Given the description of an element on the screen output the (x, y) to click on. 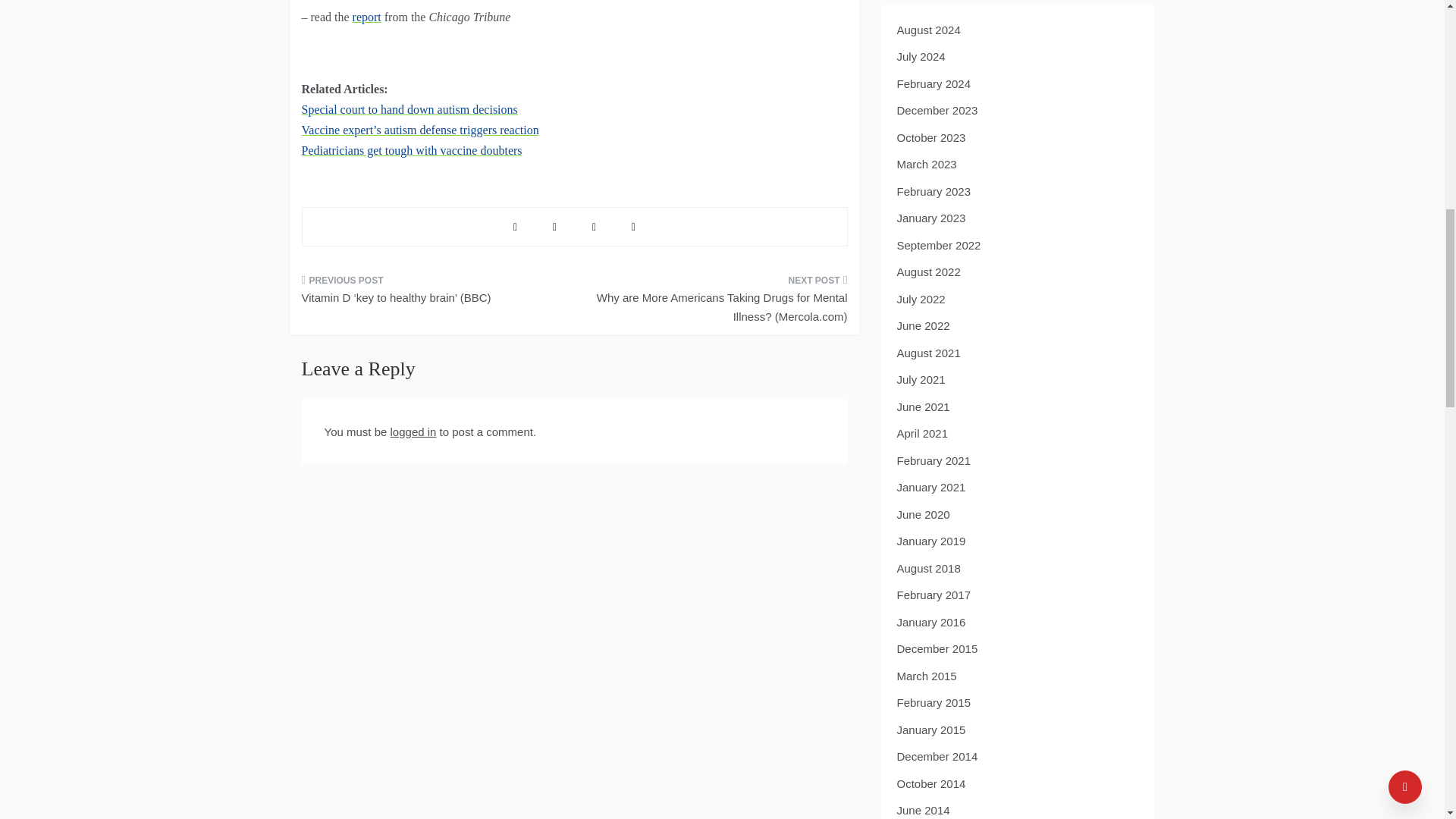
report (366, 16)
Special court to hand down autism decisions (409, 109)
Pediatricians get tough with vaccine doubters (411, 150)
